Given the description of an element on the screen output the (x, y) to click on. 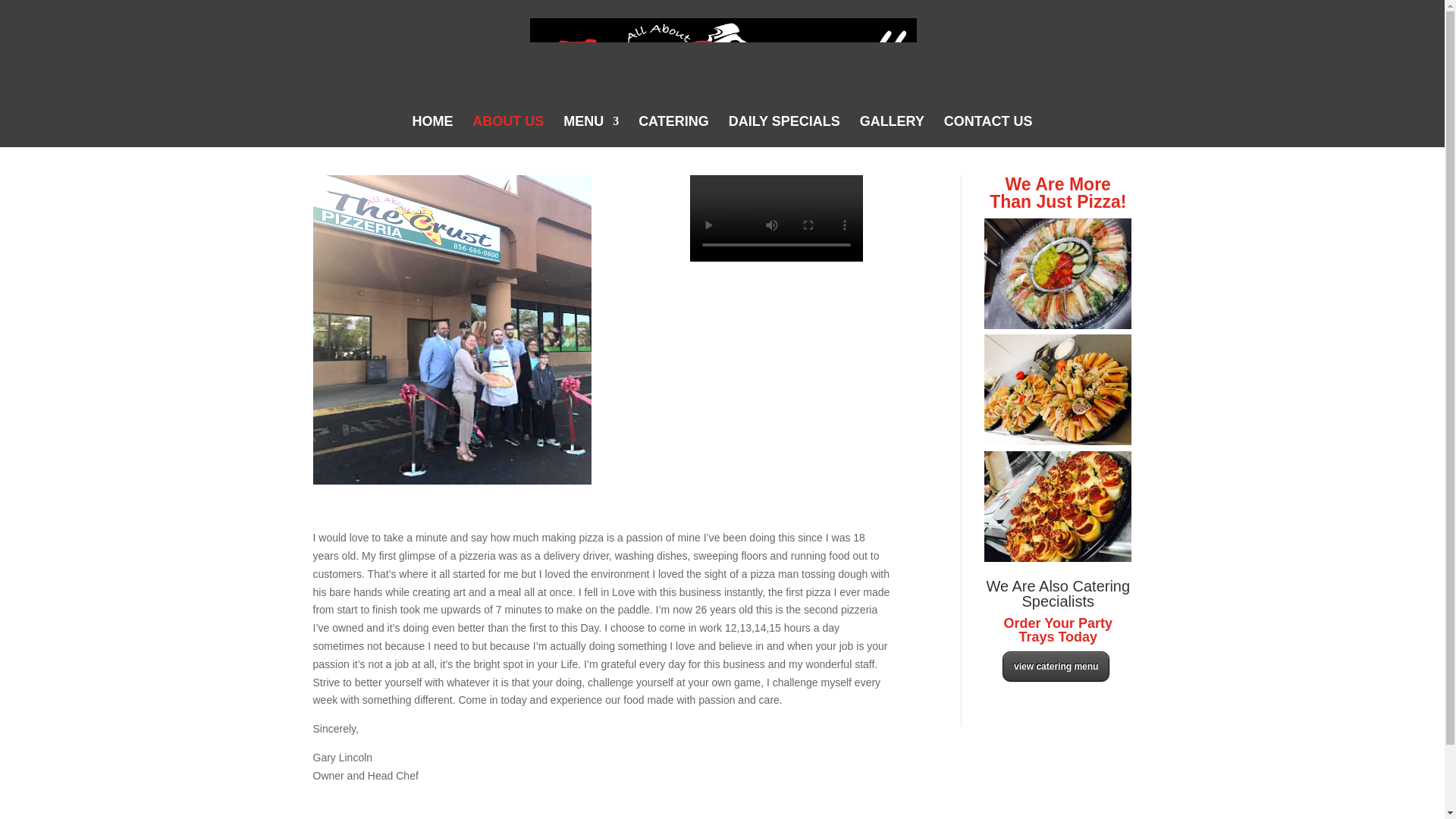
CATERING (674, 131)
ABOUT US (507, 131)
HOME (432, 131)
GALLERY (892, 131)
MENU (590, 131)
CONTACT US (987, 131)
DAILY SPECIALS (784, 131)
view catering menu (1056, 666)
